Given the description of an element on the screen output the (x, y) to click on. 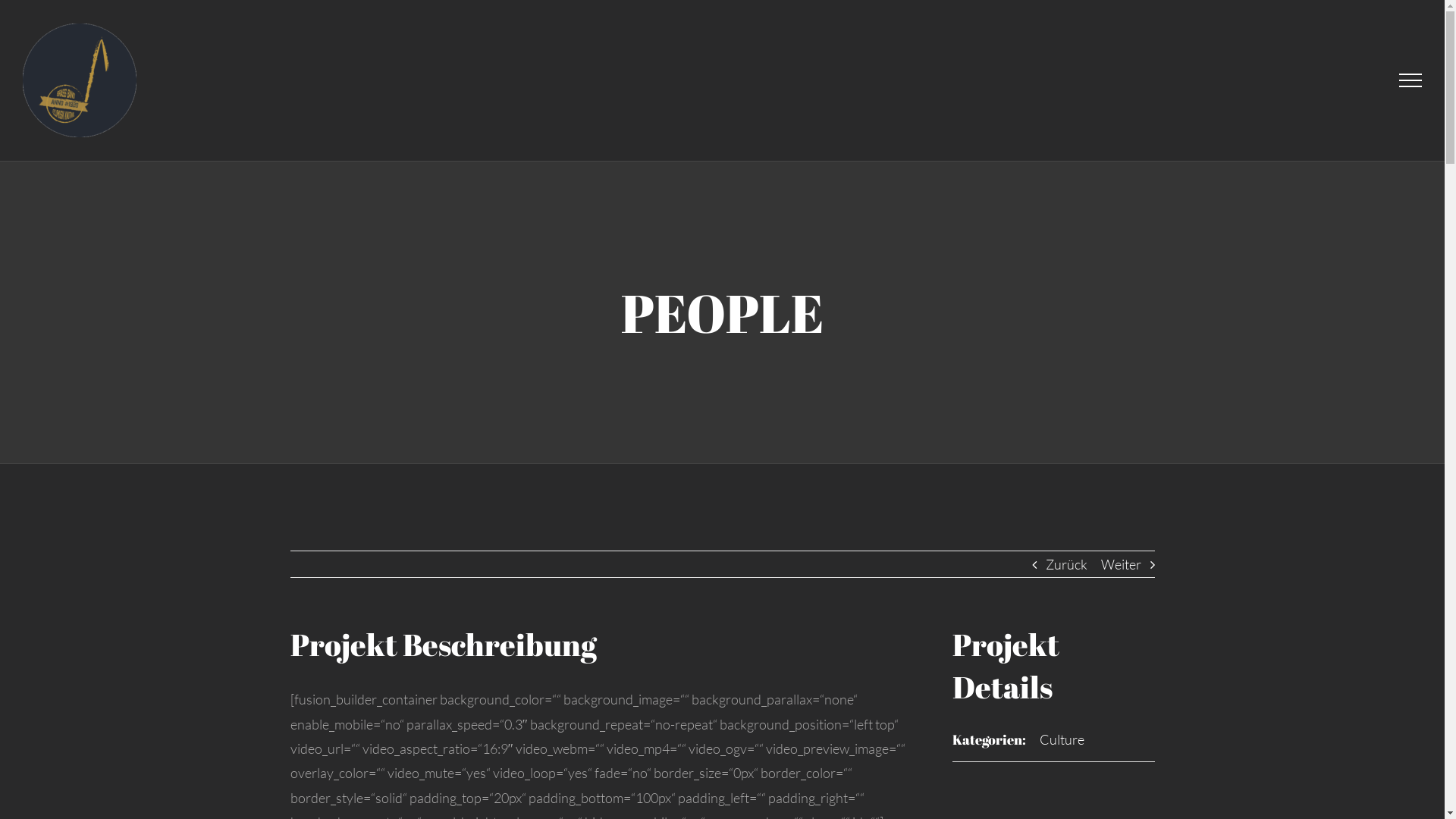
Weiter Element type: text (1121, 564)
Culture Element type: text (1061, 739)
